Given the description of an element on the screen output the (x, y) to click on. 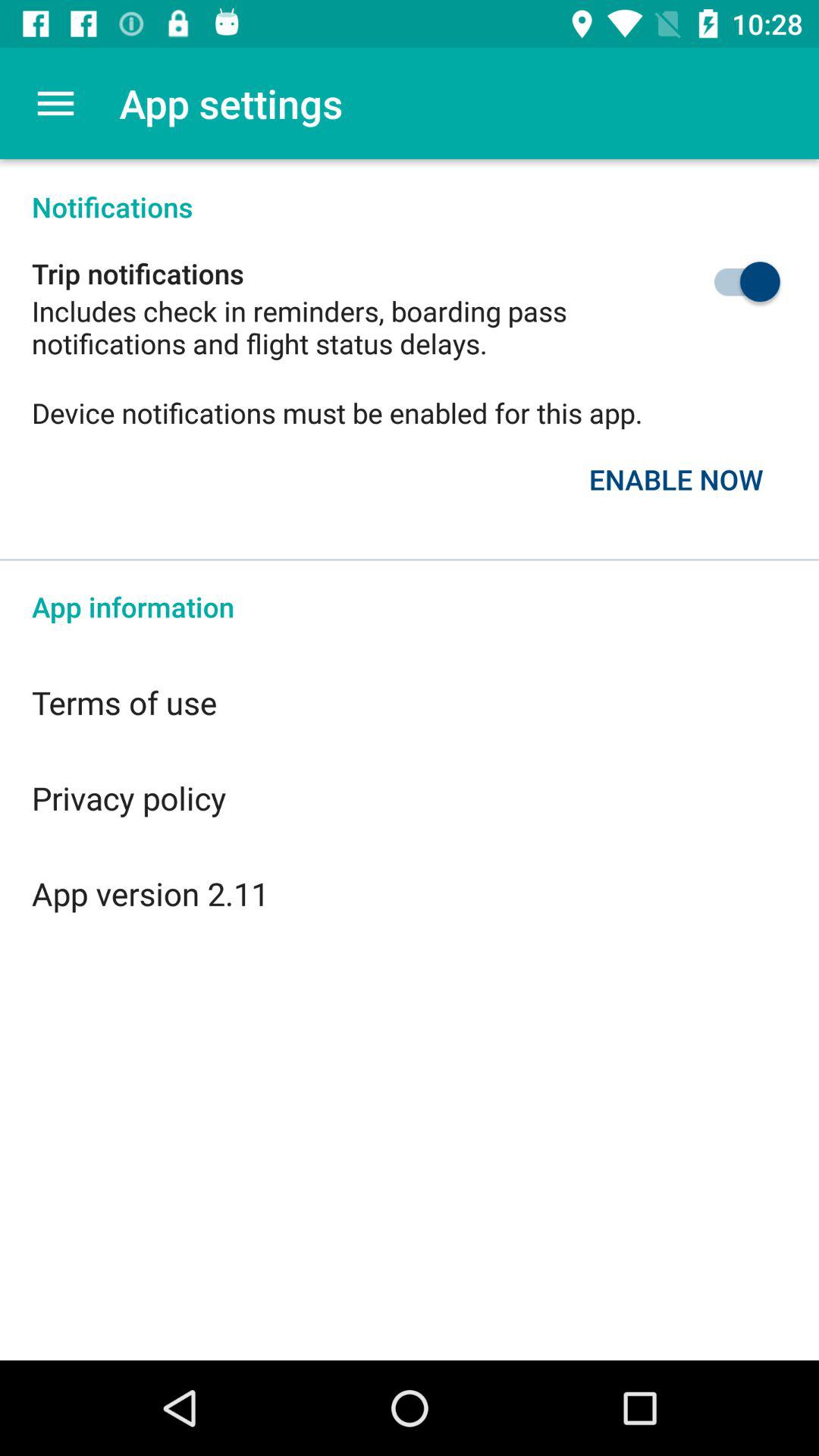
select the item next to app settings icon (55, 103)
